Given the description of an element on the screen output the (x, y) to click on. 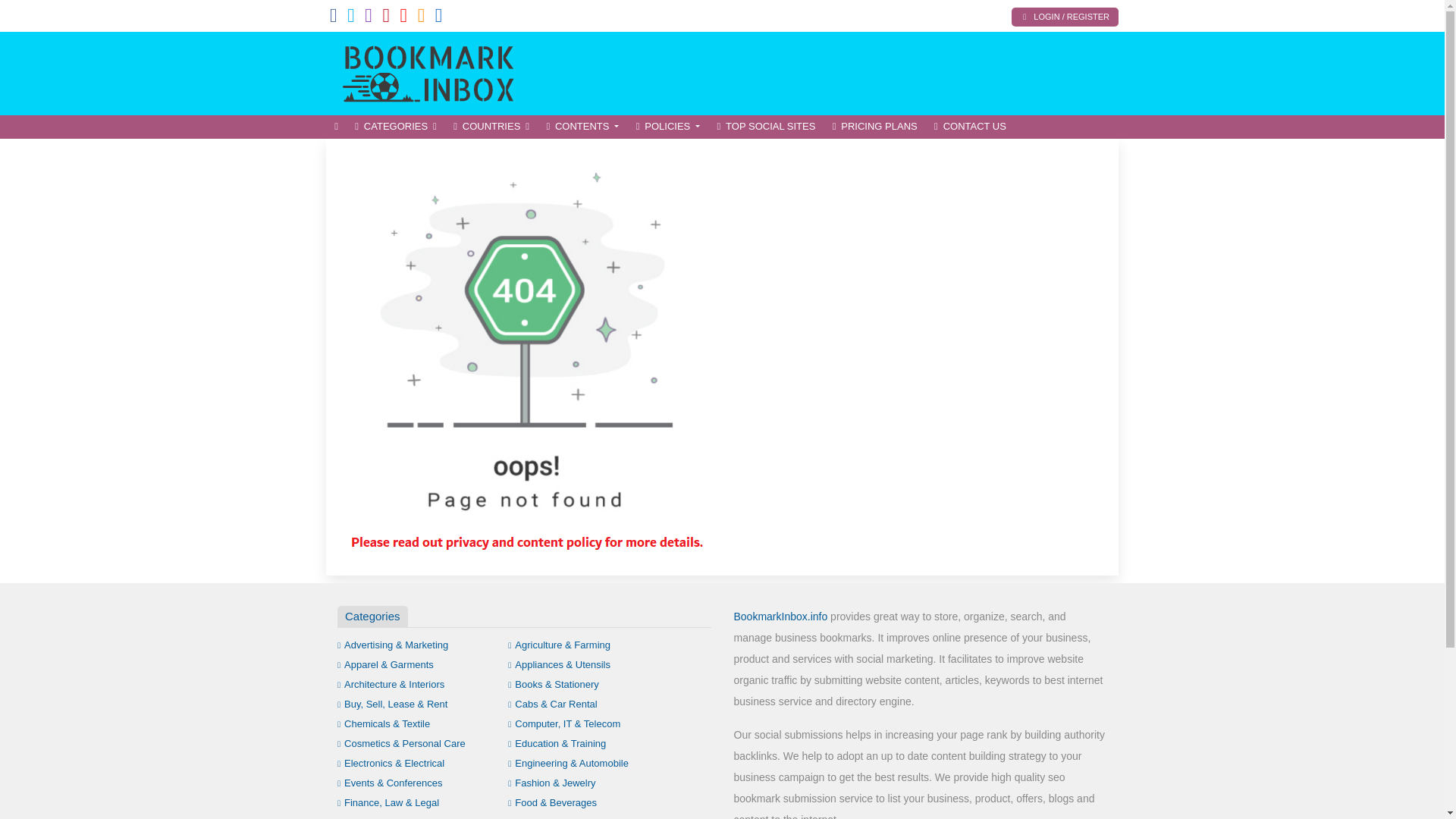
Instagram (368, 18)
RSS Feed (421, 18)
CATEGORIES (395, 126)
HOME (336, 126)
YouTube (403, 18)
Facebook (333, 18)
Twitter (351, 18)
Linked In (438, 18)
Pinterest (385, 18)
COUNTRIES (491, 126)
